Given the description of an element on the screen output the (x, y) to click on. 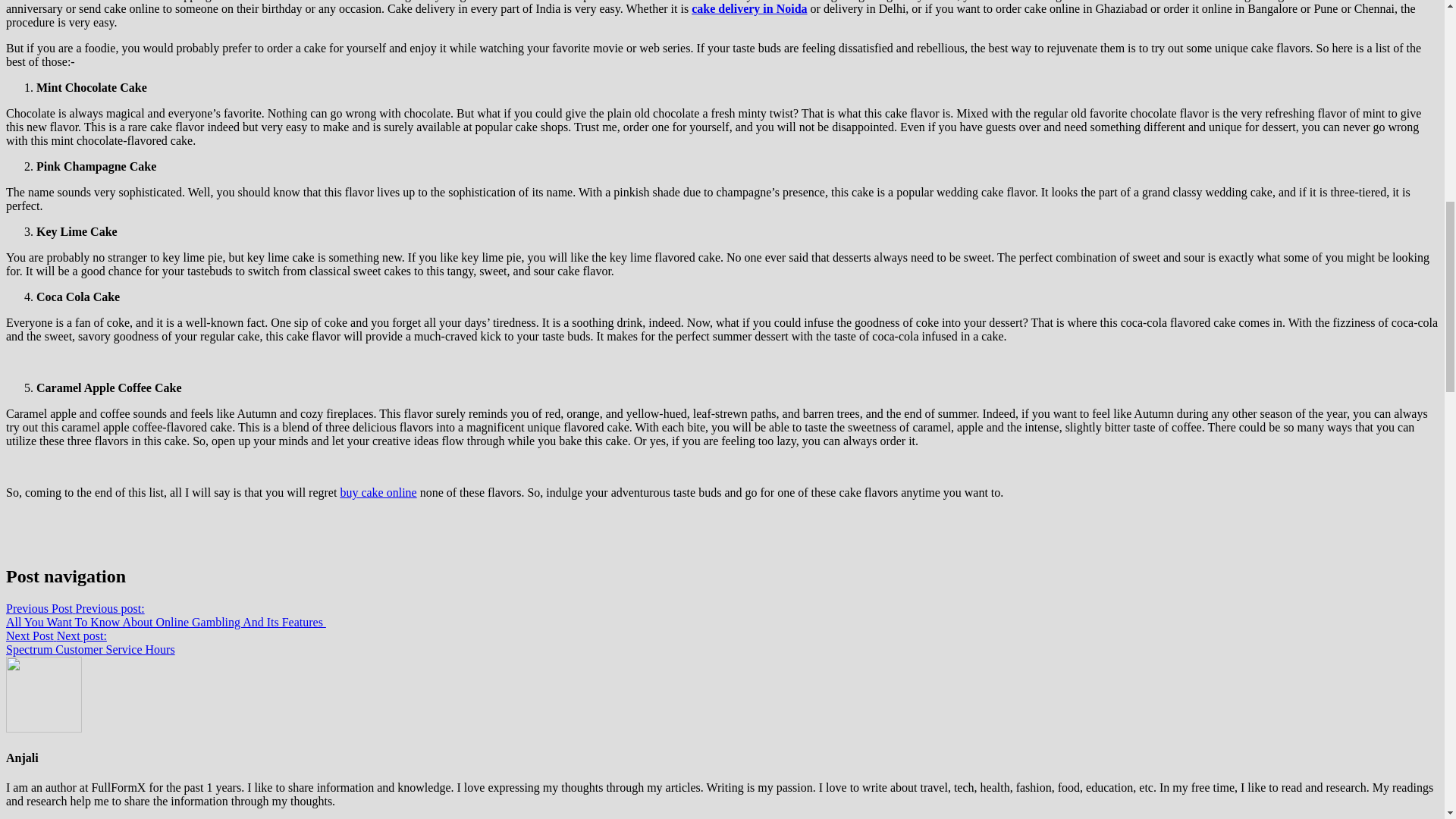
cake delivery in Noida (748, 8)
buy cake online (89, 642)
